Given the description of an element on the screen output the (x, y) to click on. 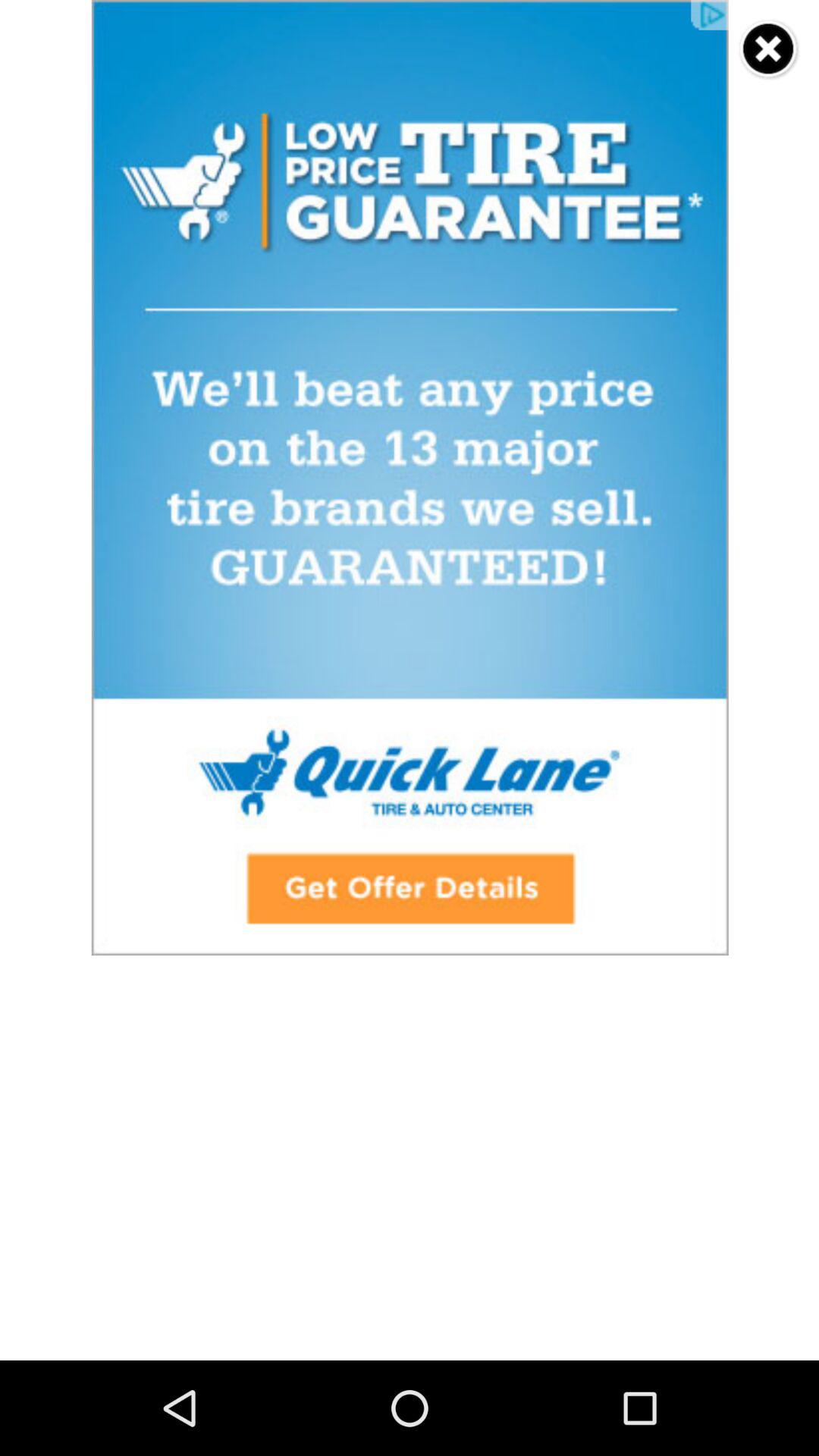
switch to close (769, 49)
